Given the description of an element on the screen output the (x, y) to click on. 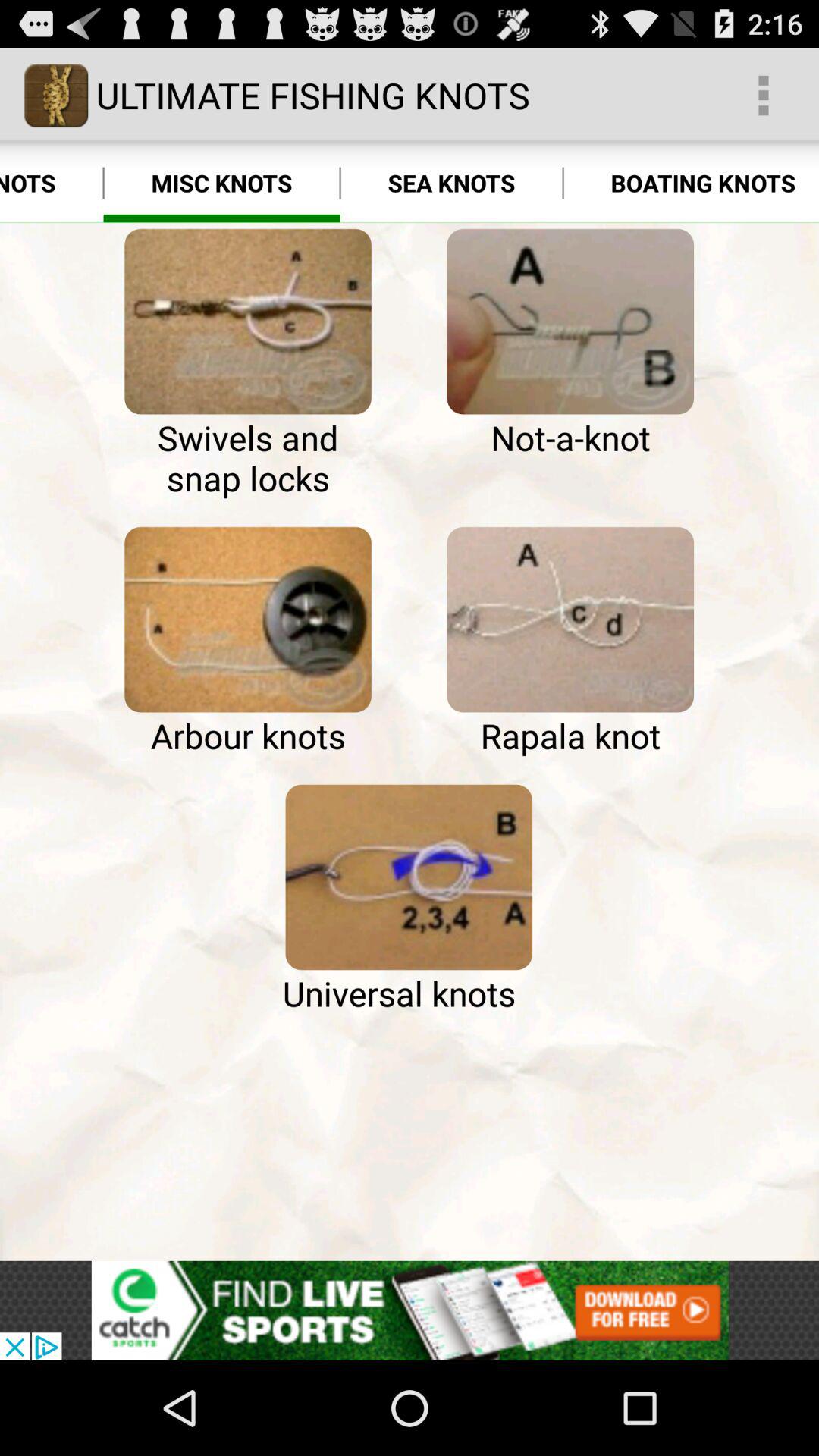
piece of metal with some thread around it (570, 321)
